Given the description of an element on the screen output the (x, y) to click on. 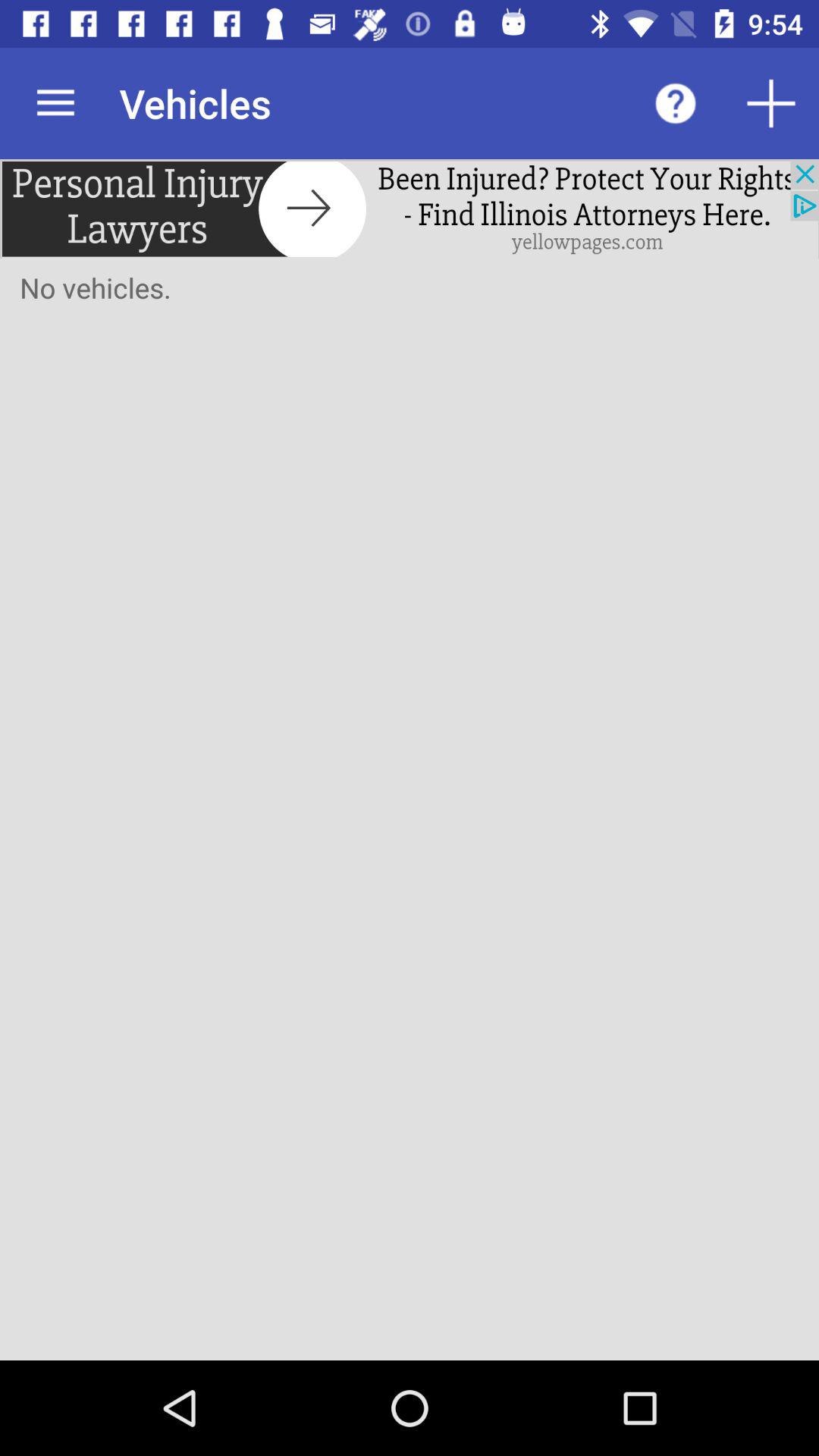
see help (675, 103)
